Given the description of an element on the screen output the (x, y) to click on. 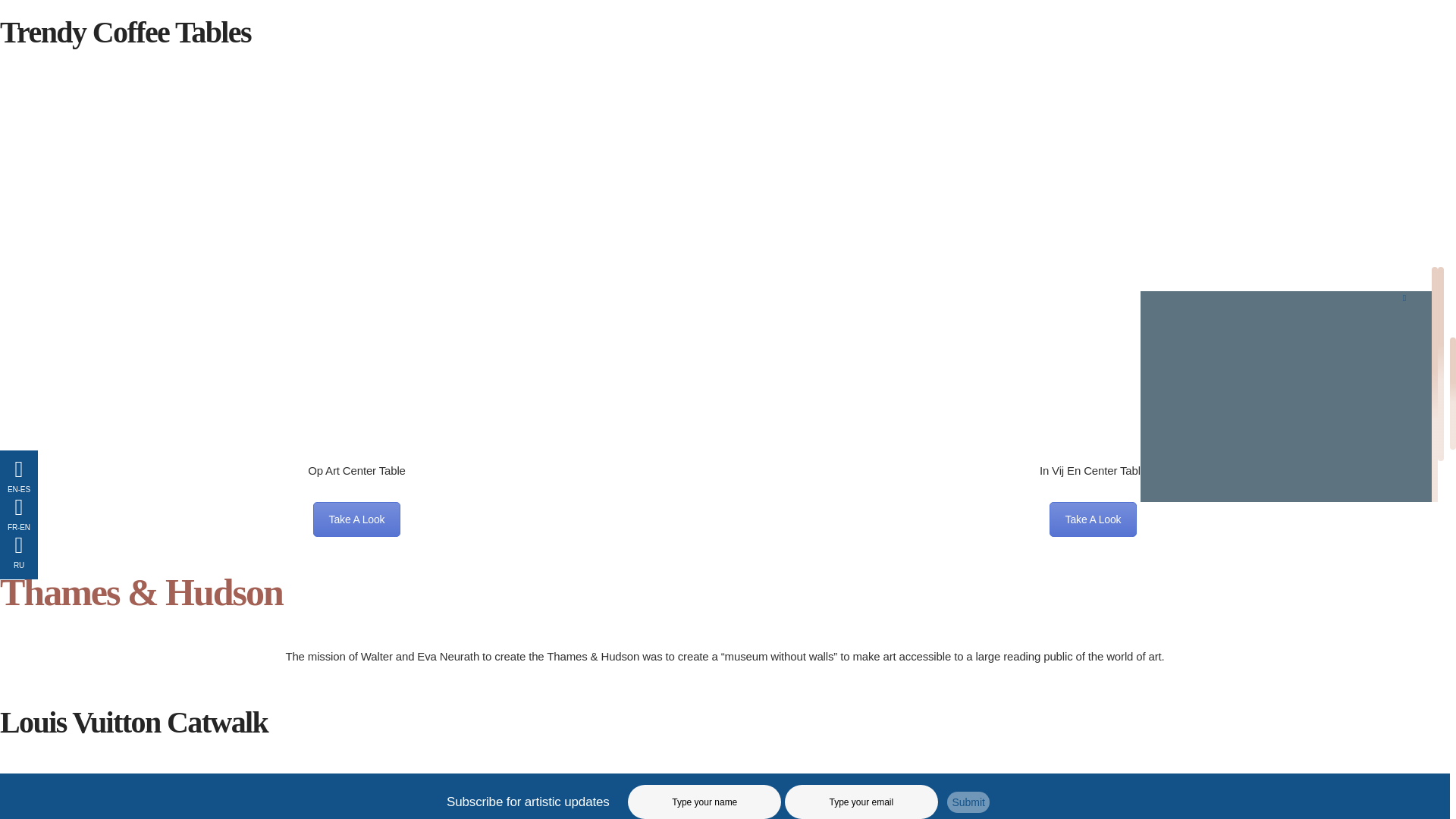
Coffee table books - louis vuitton catwalk (724, 791)
